Given the description of an element on the screen output the (x, y) to click on. 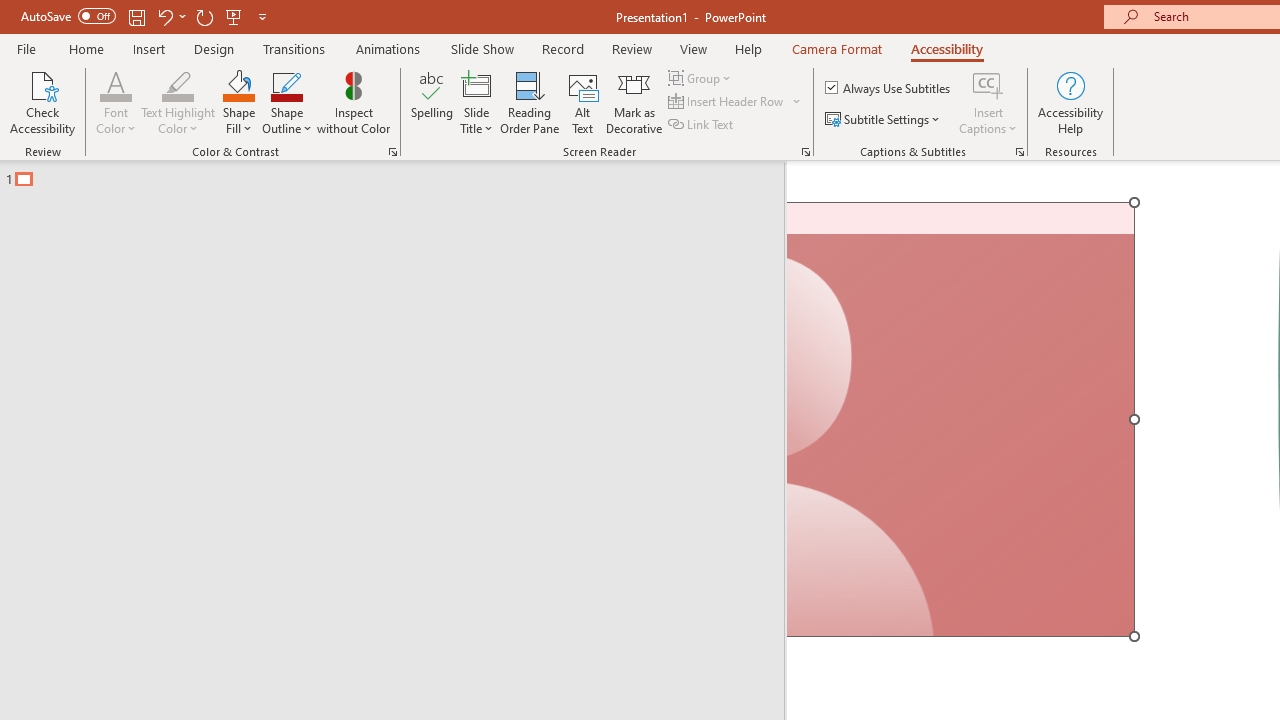
Subtitle Settings (884, 119)
Camera Format (836, 48)
Color & Contrast (392, 151)
Reading Order Pane (529, 102)
Slide Title (476, 84)
Inspect without Color (353, 102)
Screen Reader (805, 151)
Insert Captions (988, 102)
Camera 7, No camera detected. (961, 419)
Insert Captions (988, 84)
